Given the description of an element on the screen output the (x, y) to click on. 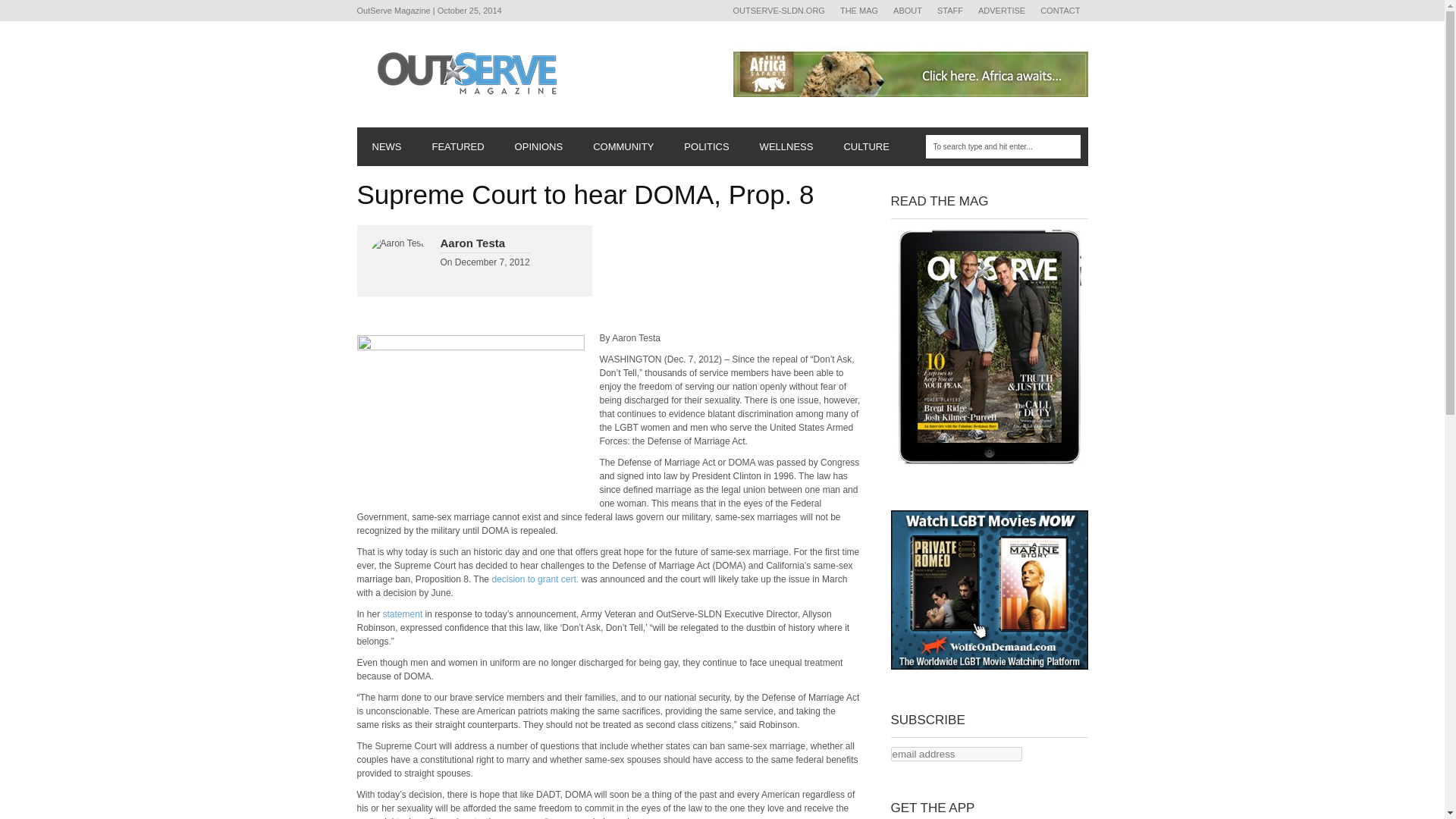
COMMUNITY (623, 146)
Supreme Court to hear DOMA, Prop 8 (469, 415)
ABOUT (907, 10)
ADVERTISE (1001, 10)
To search type and hit enter... (1002, 146)
Posts by Aaron Testa (472, 242)
CULTURE (866, 146)
FEATURED (457, 146)
CONTACT (1059, 10)
POLITICS (706, 146)
